Given the description of an element on the screen output the (x, y) to click on. 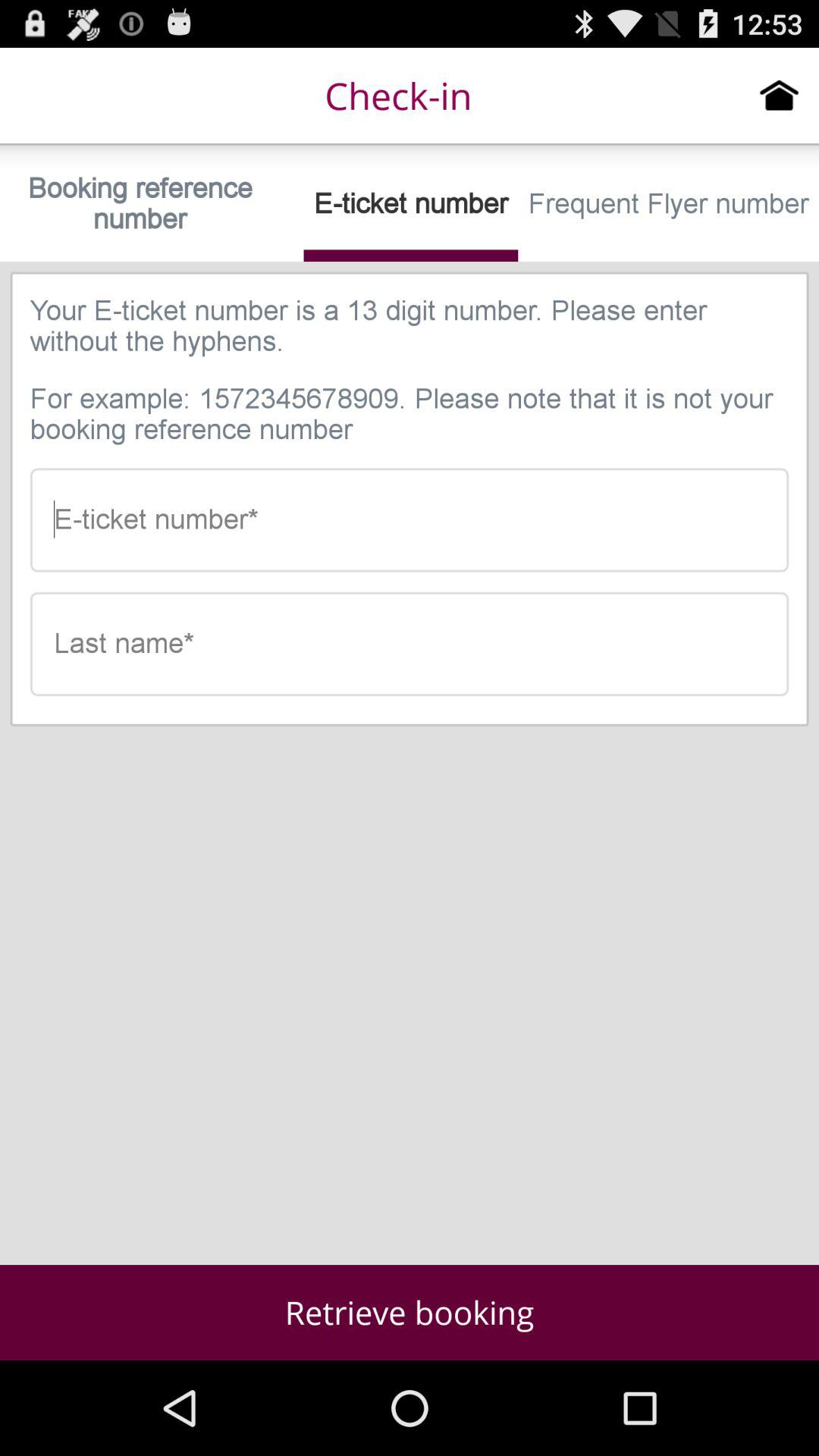
tap the item next to e-ticket number (668, 203)
